Given the description of an element on the screen output the (x, y) to click on. 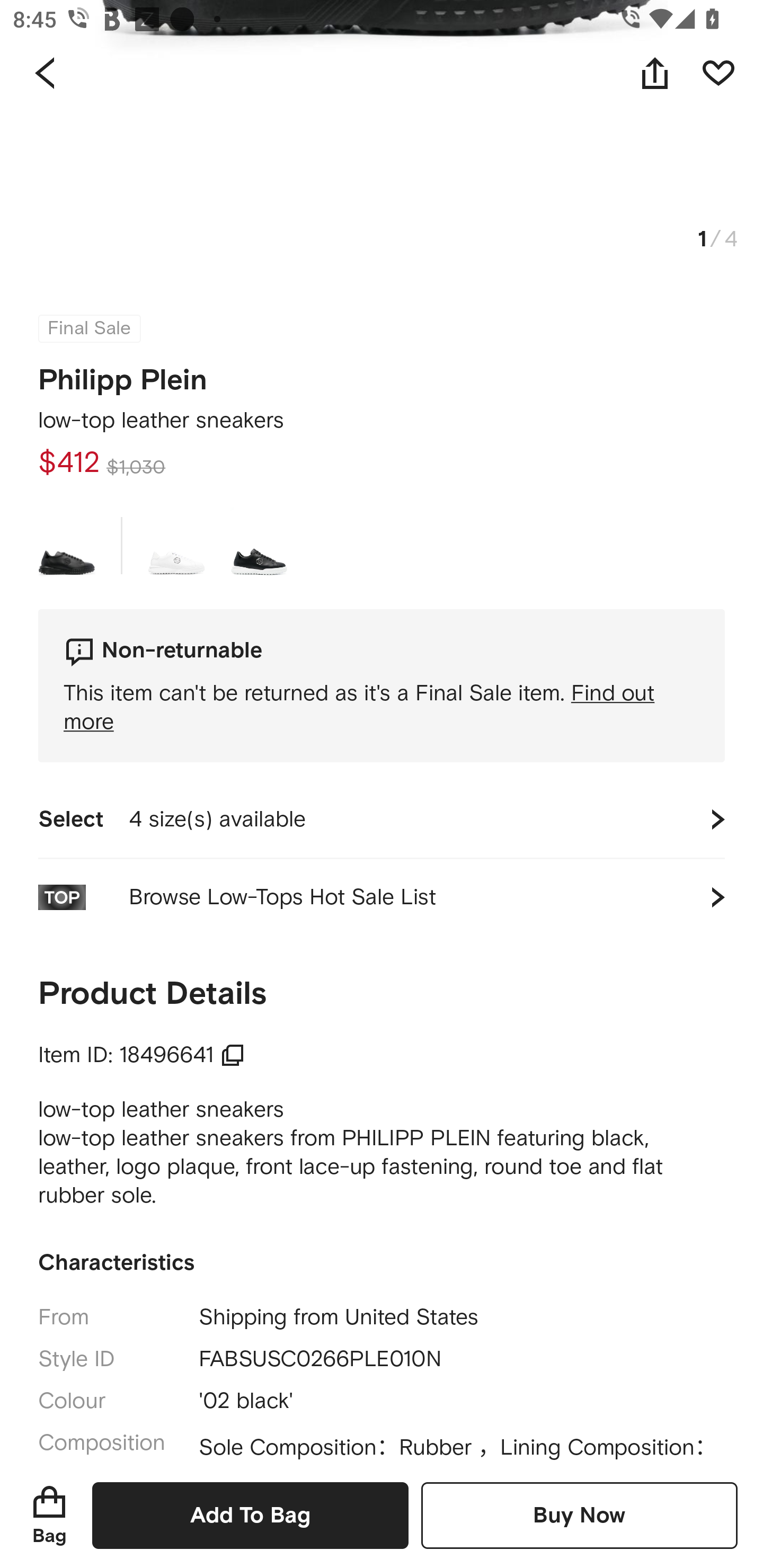
Philipp Plein (122, 374)
Select 4 size(s) available (381, 818)
Browse Low-Tops Hot Sale List (381, 897)
Item ID: 18496641 (141, 1055)
Bag (49, 1515)
Add To Bag (250, 1515)
Buy Now (579, 1515)
